Given the description of an element on the screen output the (x, y) to click on. 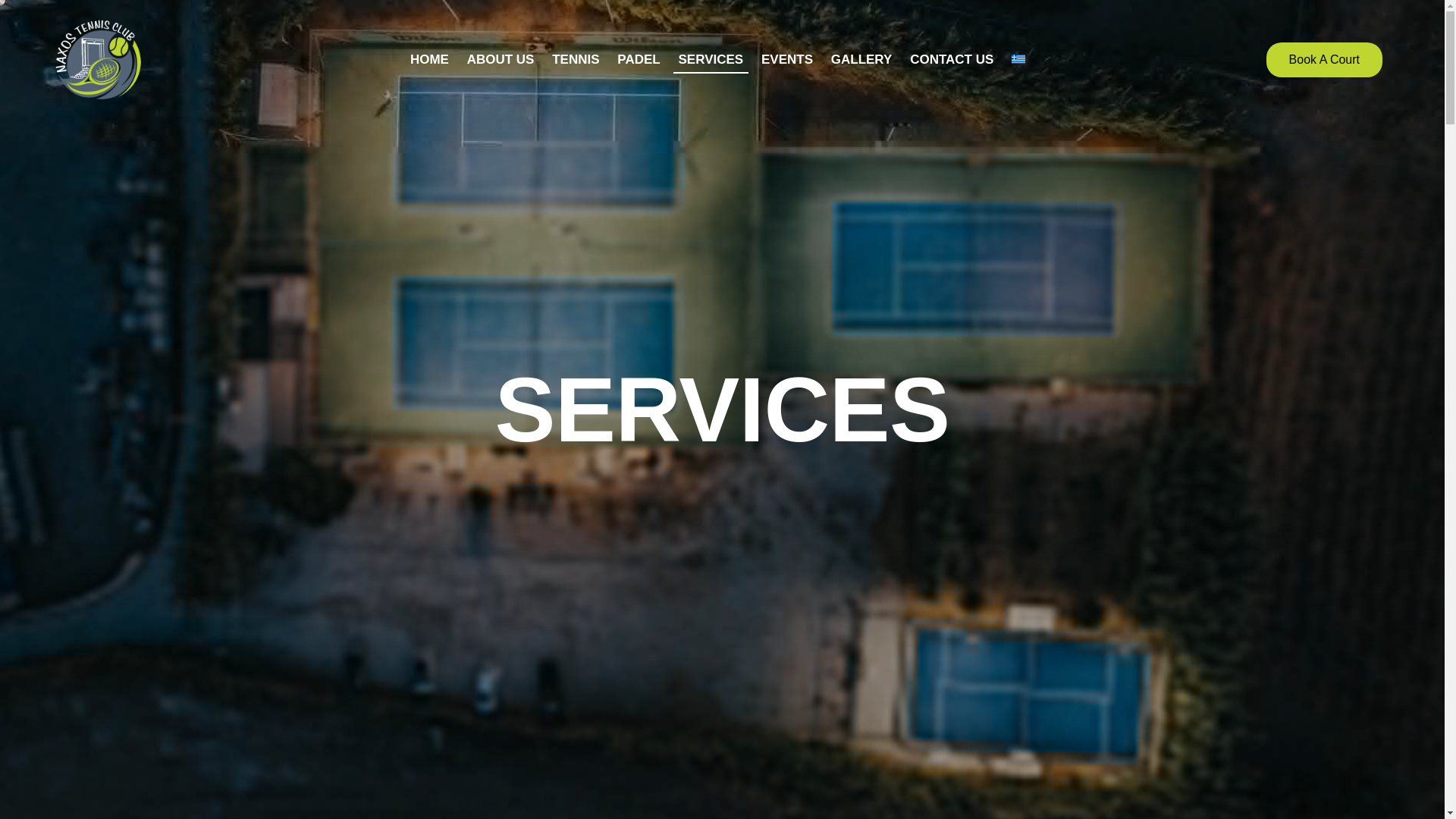
TENNIS (575, 58)
GALLERY (861, 58)
HOME (429, 58)
SERVICES (710, 58)
Book A Court (1323, 59)
EVENTS (787, 58)
CONTACT US (952, 58)
PADEL (638, 58)
ABOUT US (500, 58)
